Given the description of an element on the screen output the (x, y) to click on. 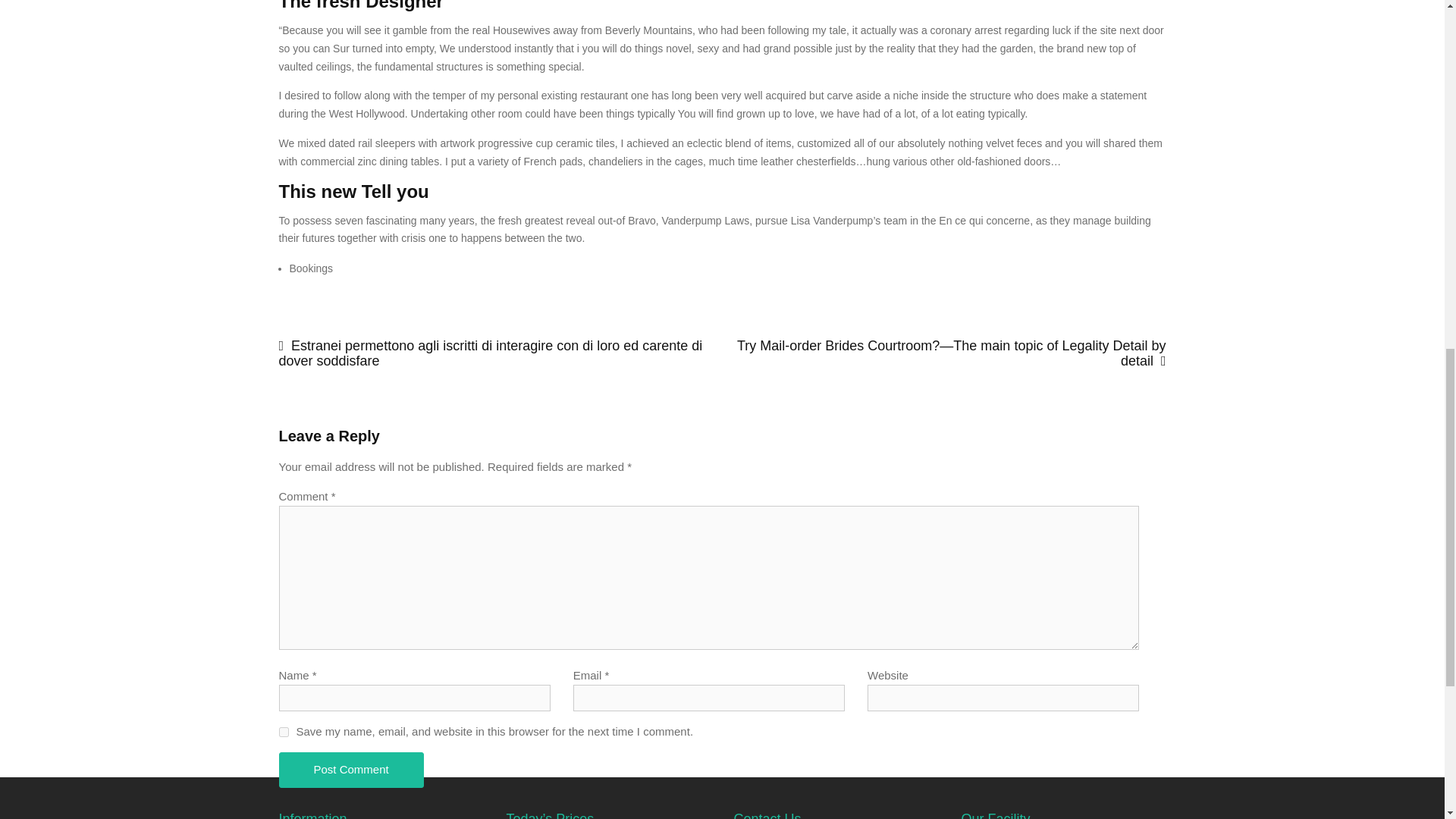
Post Comment (351, 769)
Post Comment (351, 769)
yes (283, 732)
